Given the description of an element on the screen output the (x, y) to click on. 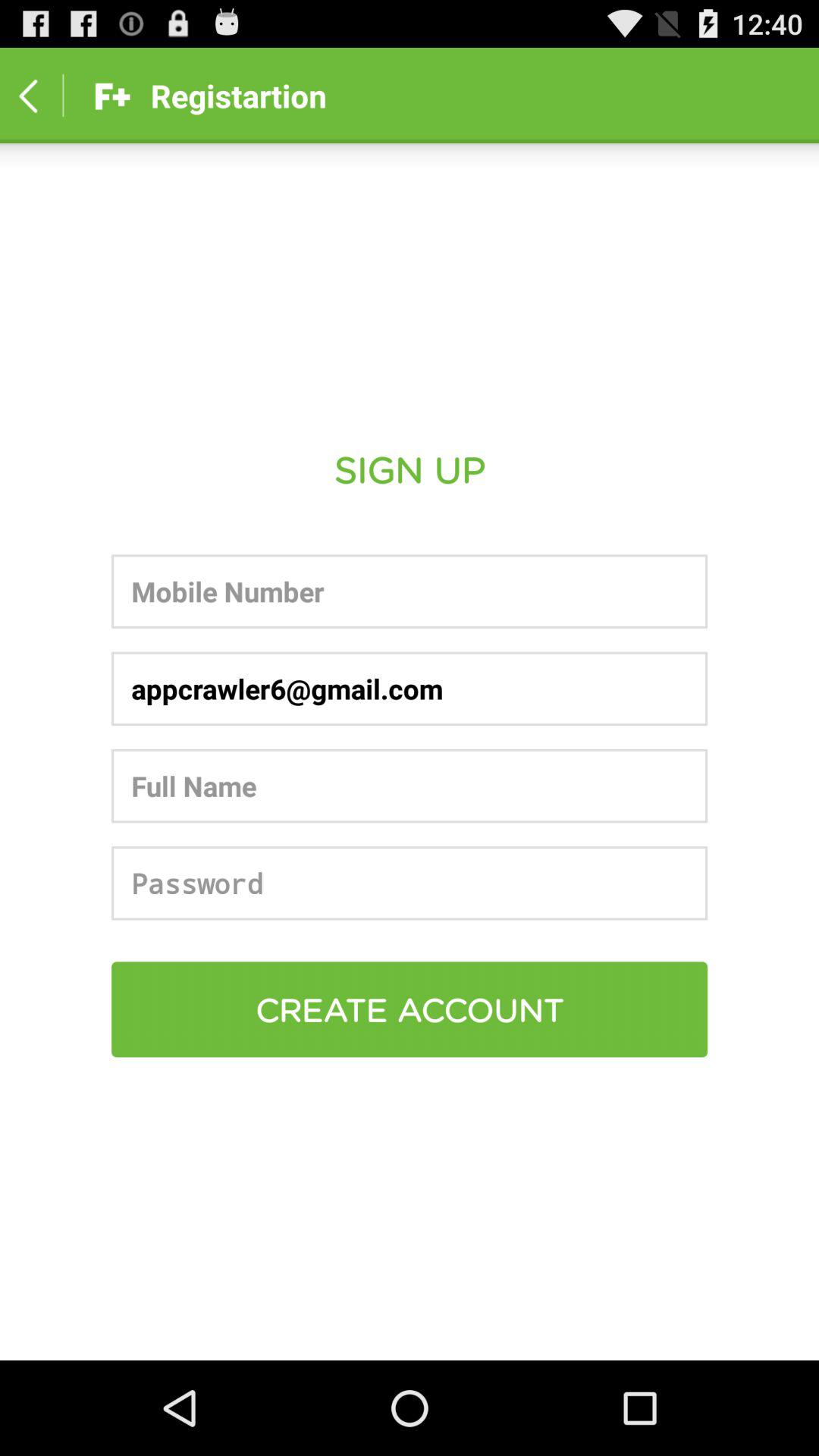
enter your mobile number (409, 591)
